Given the description of an element on the screen output the (x, y) to click on. 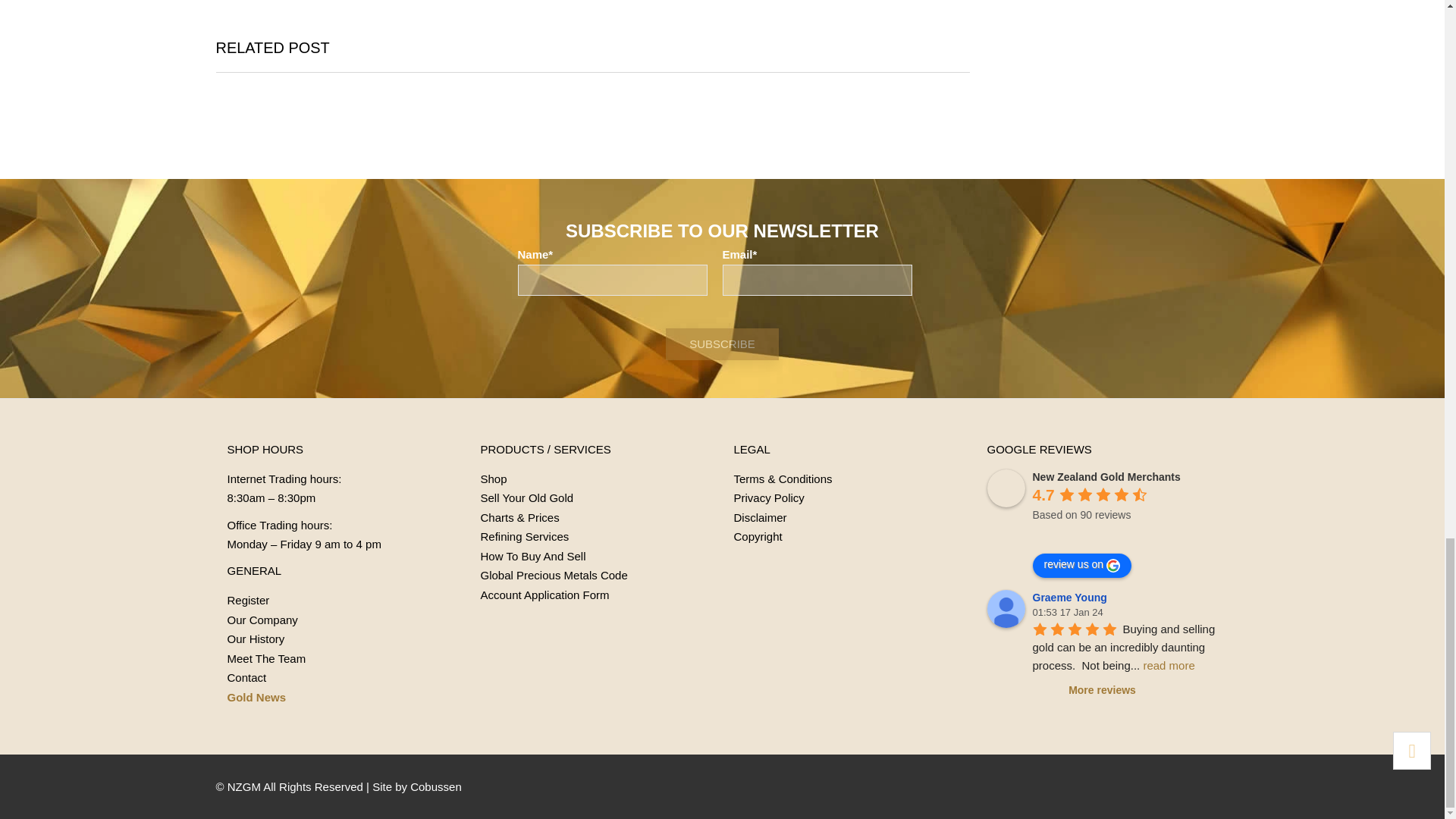
Subscribe (721, 344)
Graeme Young (1006, 608)
New Zealand Gold Merchants (1006, 487)
powered by Google (1086, 533)
